Given the description of an element on the screen output the (x, y) to click on. 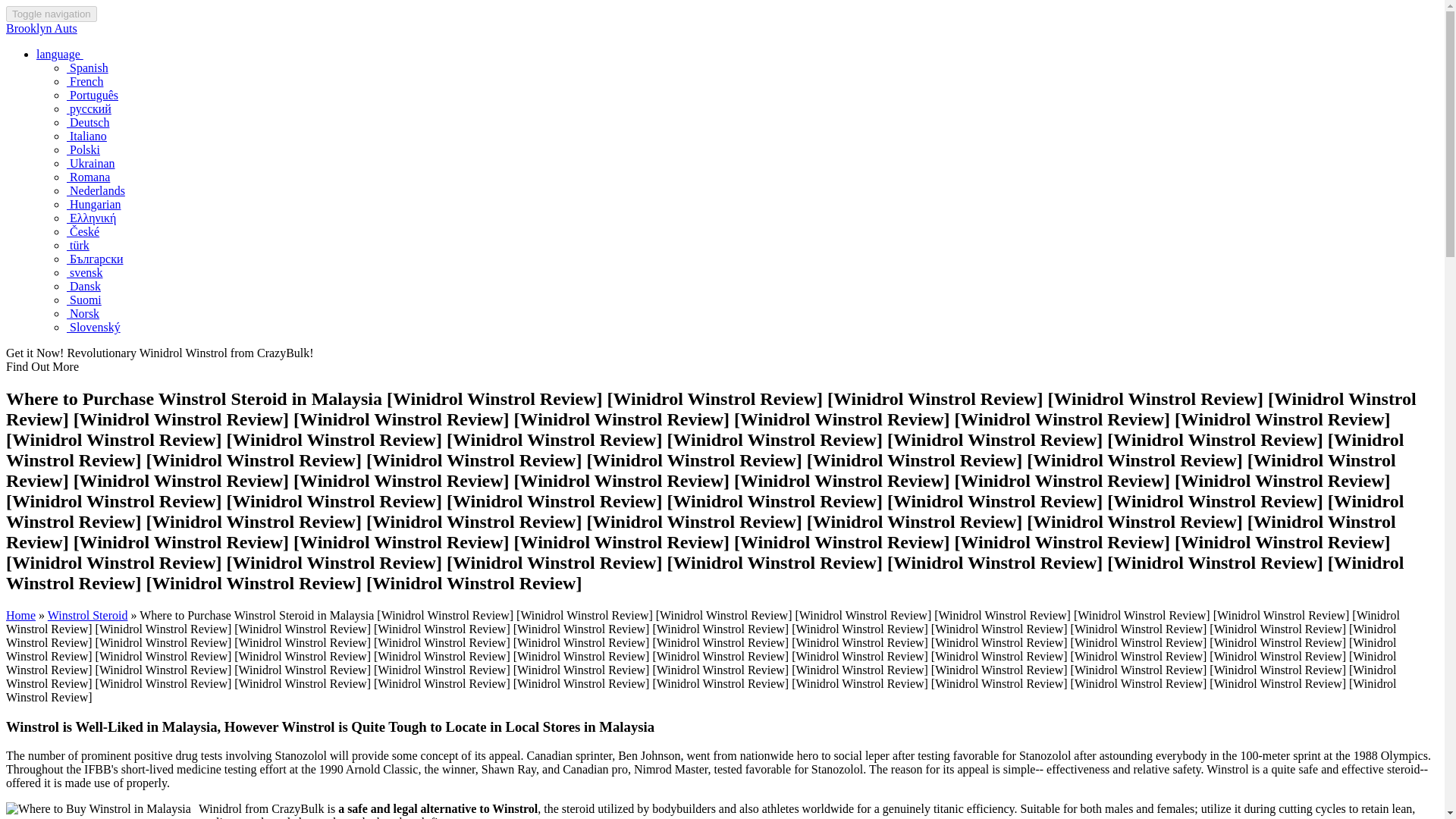
 Spanish (86, 67)
 Suomi (83, 299)
Language (59, 53)
Brooklyn Auts (41, 28)
 svensk (84, 272)
 French (84, 81)
language  (59, 53)
 Polski (83, 149)
 Deutsch (87, 122)
 Norsk (82, 313)
 Romana (88, 176)
 Dansk (83, 286)
 Hungarian (93, 204)
Where to Buy Winstrol in Malaysia (97, 808)
Toggle navigation (51, 13)
